Given the description of an element on the screen output the (x, y) to click on. 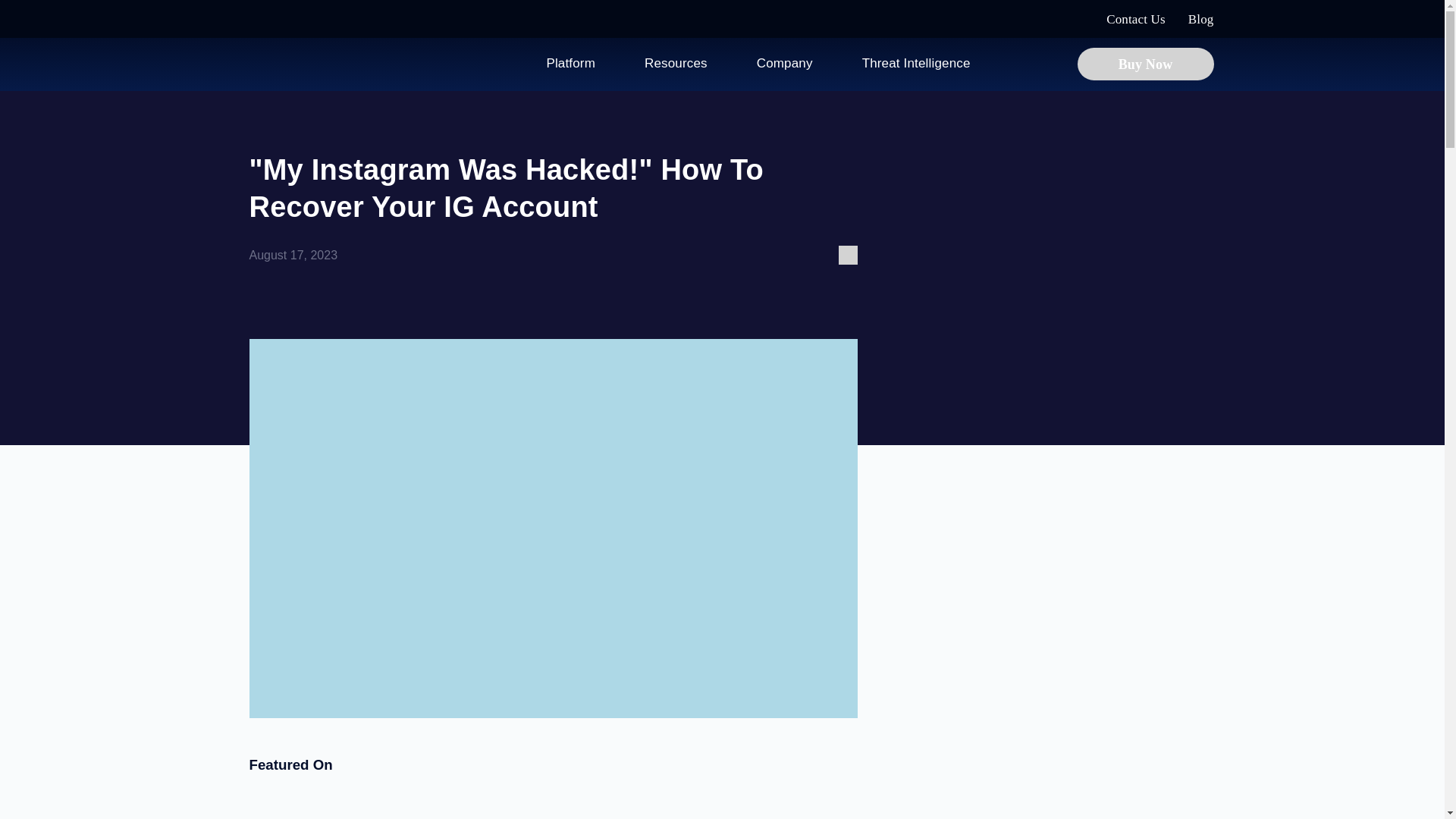
Buy Now (1144, 63)
Company (784, 63)
Blog (1201, 19)
Contact Us (1136, 19)
